Given the description of an element on the screen output the (x, y) to click on. 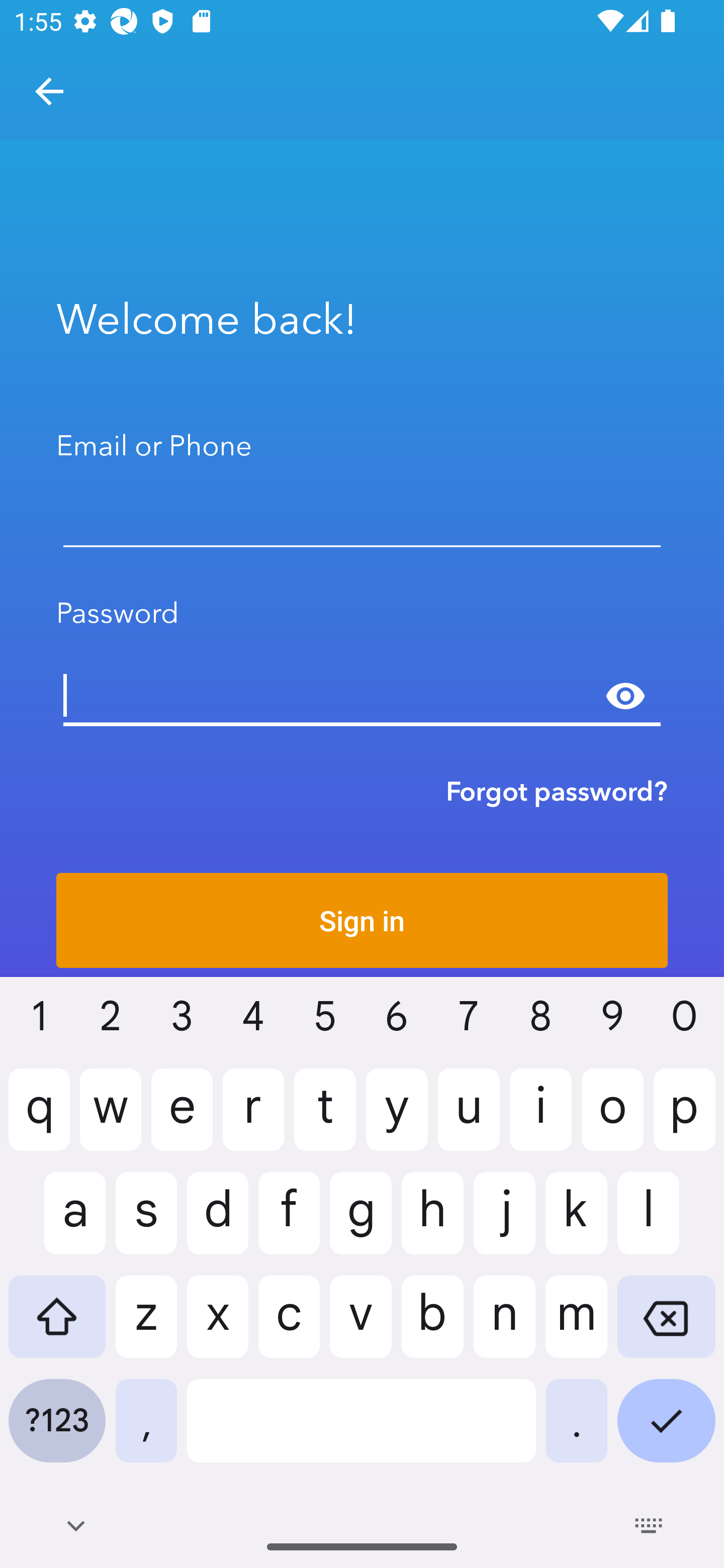
Navigate up (49, 91)
Show password (625, 695)
Forgot password? (556, 790)
Sign in (361, 920)
